Given the description of an element on the screen output the (x, y) to click on. 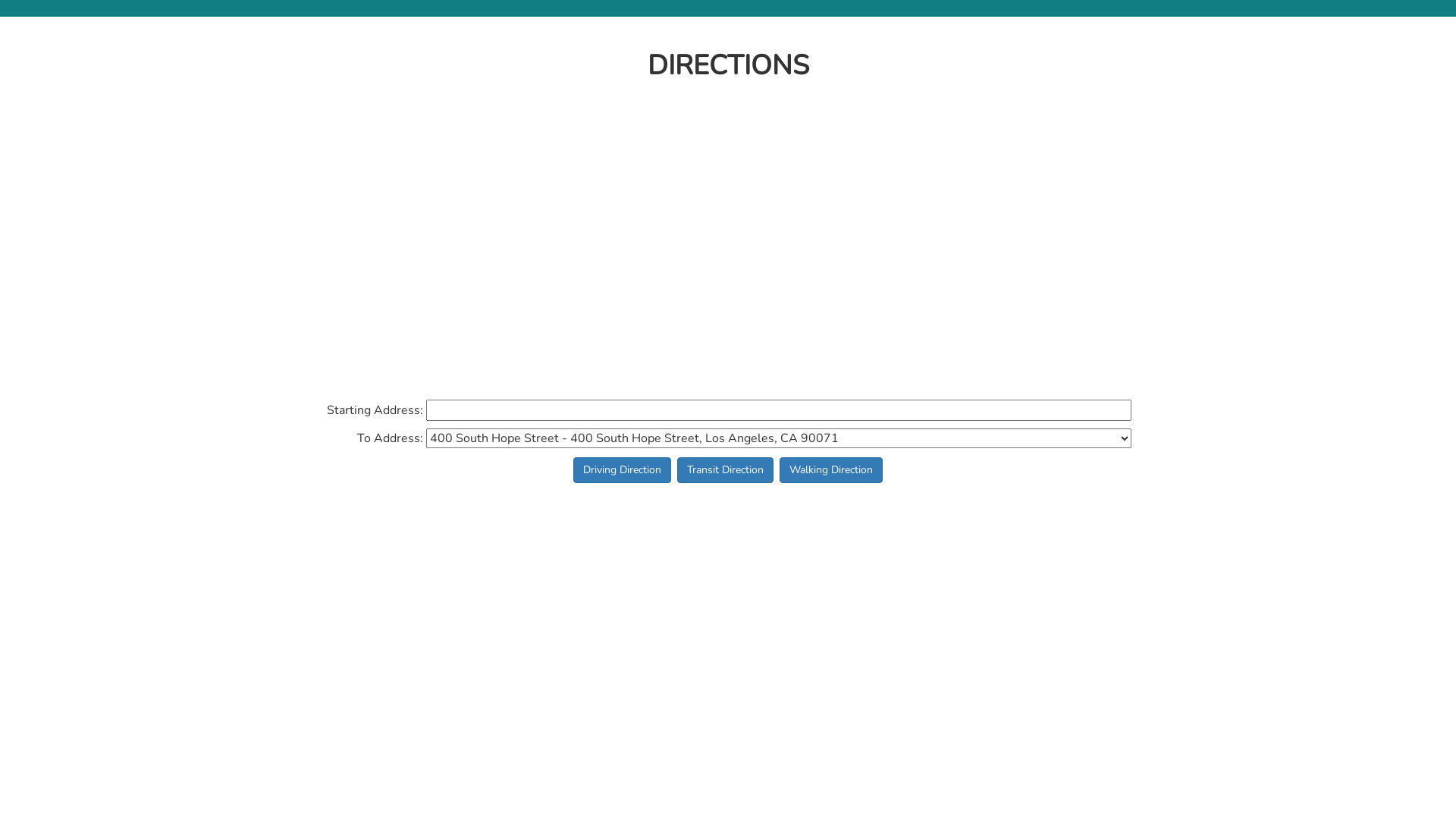
Walking Direction Element type: text (830, 470)
Driving Direction Element type: text (622, 470)
Transit Direction Element type: text (725, 470)
